Given the description of an element on the screen output the (x, y) to click on. 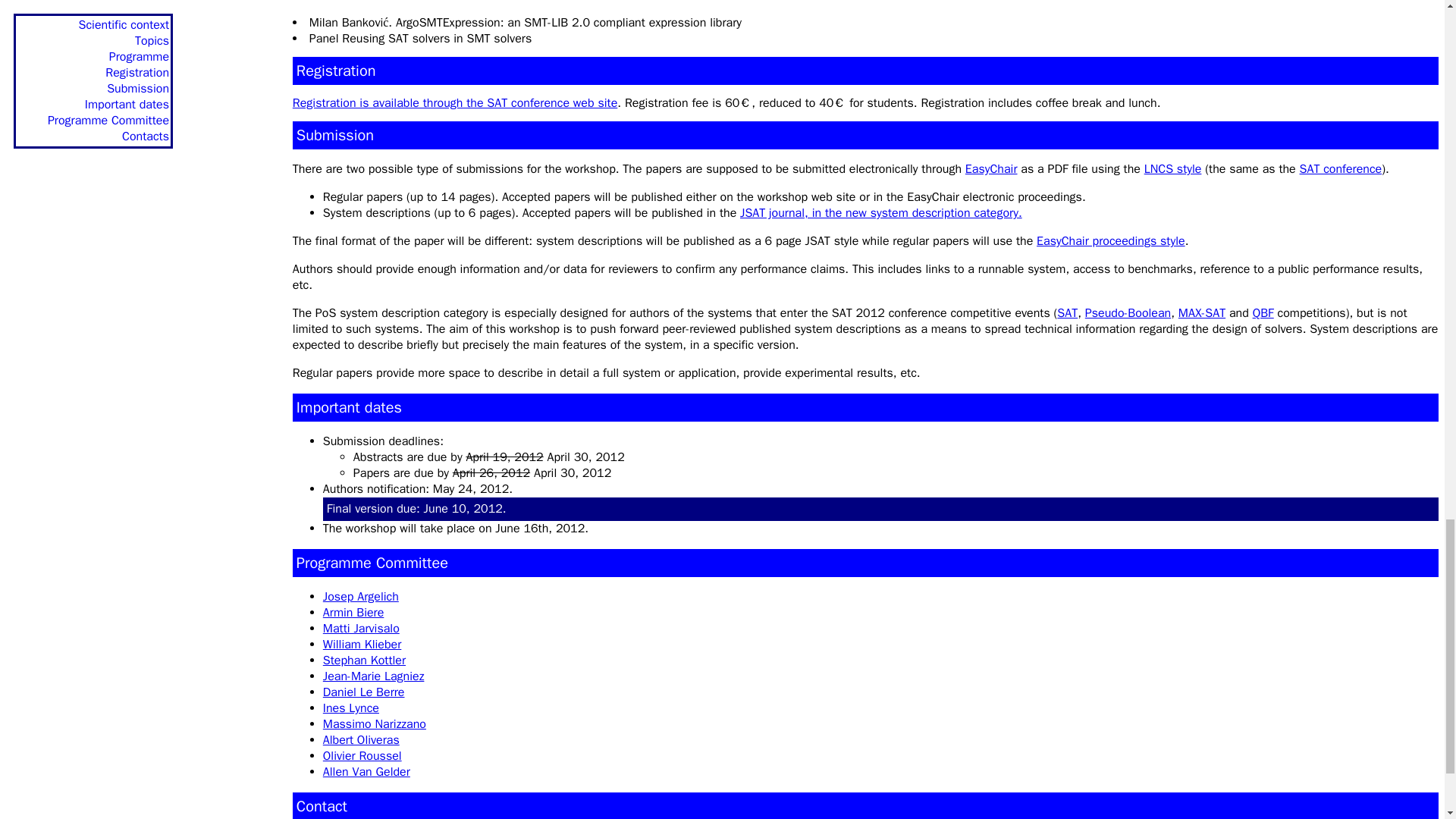
Registration (336, 70)
Submission (335, 135)
EasyChair (991, 168)
